Given the description of an element on the screen output the (x, y) to click on. 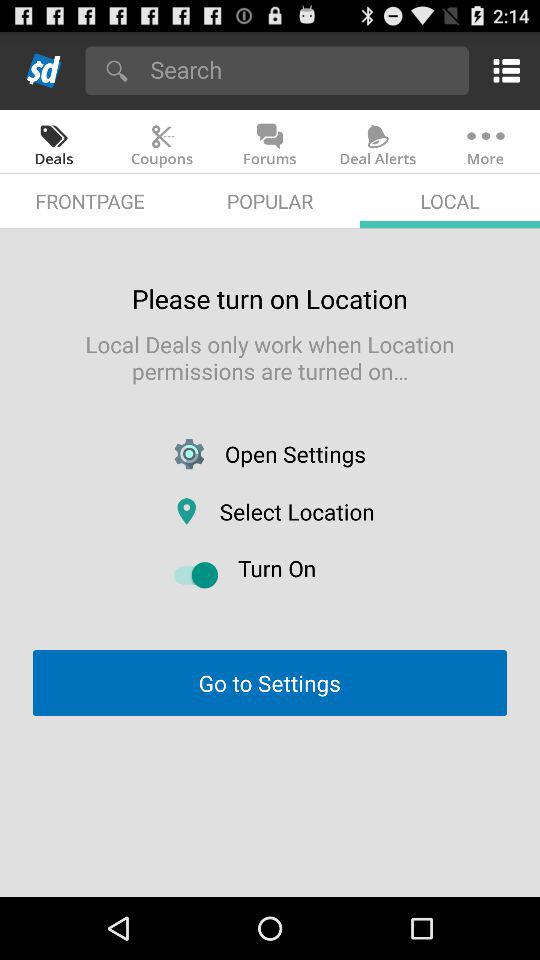
launch item to the left of local (270, 200)
